Given the description of an element on the screen output the (x, y) to click on. 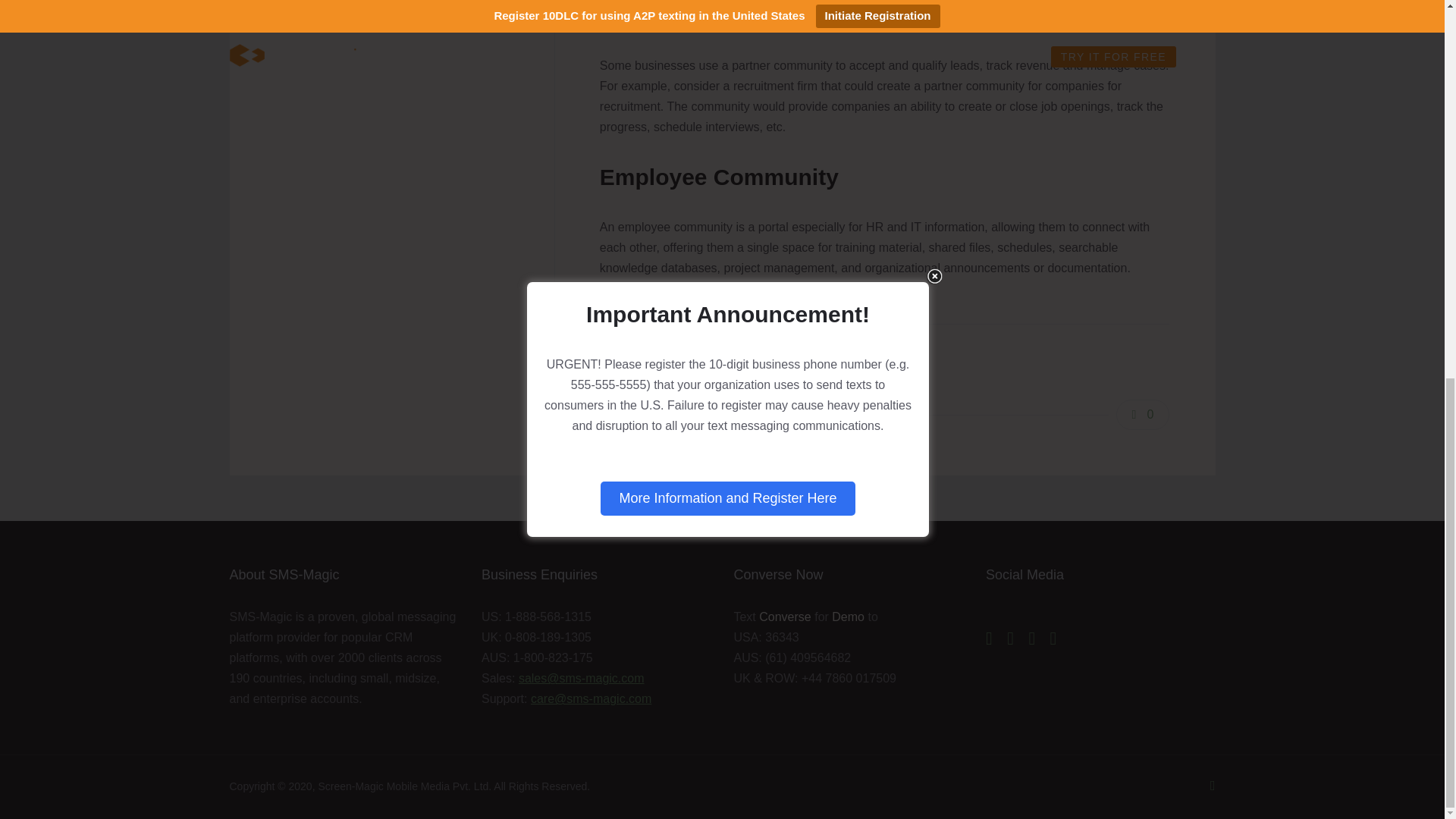
0 likes (1143, 414)
